Given the description of an element on the screen output the (x, y) to click on. 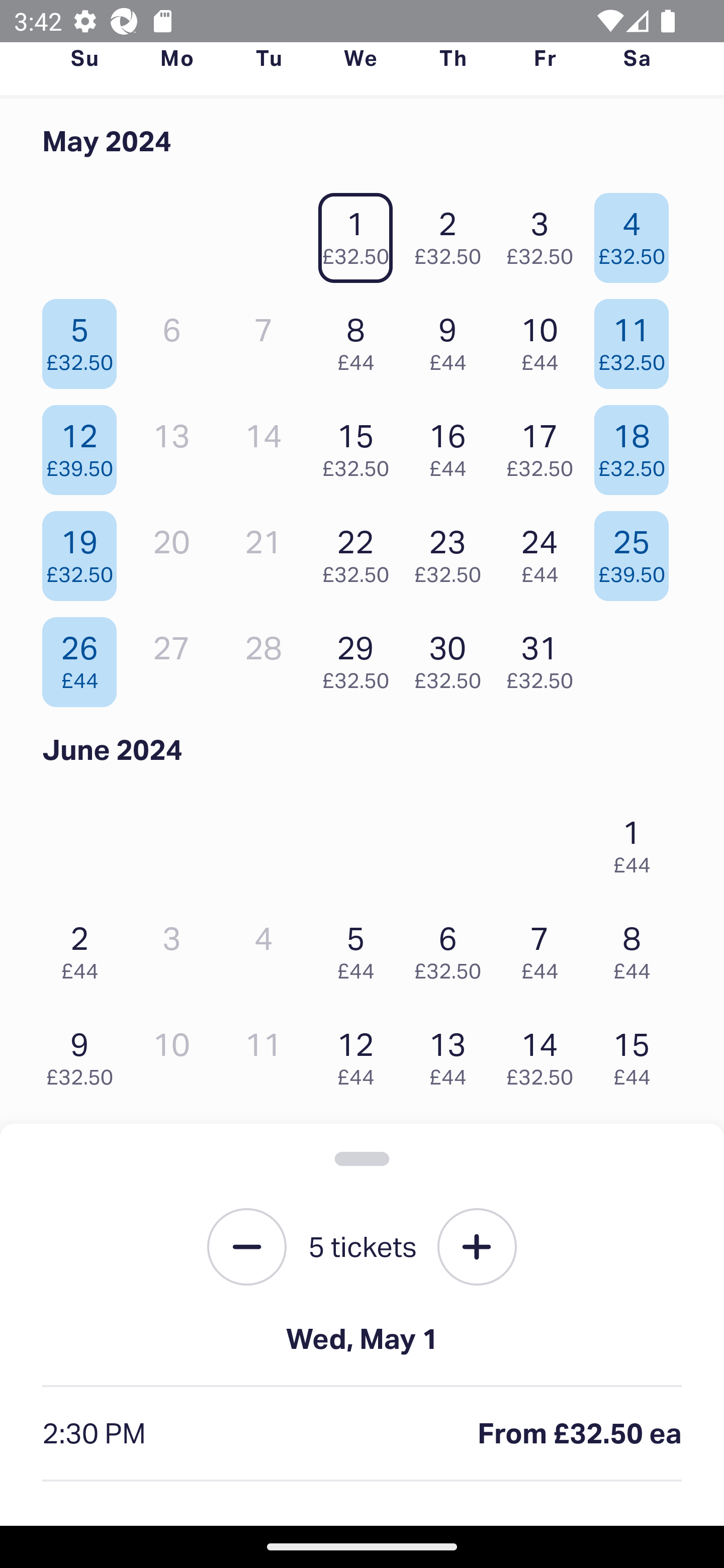
1 £32.50 (360, 232)
2 £32.50 (452, 232)
3 £32.50 (544, 232)
4 £32.50 (636, 232)
5 £32.50 (84, 339)
8 £44 (360, 339)
9 £44 (452, 339)
10 £44 (544, 339)
11 £32.50 (636, 339)
12 £39.50 (84, 445)
15 £32.50 (360, 445)
16 £44 (452, 445)
17 £32.50 (544, 445)
18 £32.50 (636, 445)
19 £32.50 (84, 550)
22 £32.50 (360, 550)
23 £32.50 (452, 550)
24 £44 (544, 550)
25 £39.50 (636, 550)
26 £44 (84, 657)
29 £32.50 (360, 657)
30 £32.50 (452, 657)
31 £32.50 (544, 657)
1 £44 (636, 841)
2 £44 (84, 947)
5 £44 (360, 947)
6 £32.50 (452, 947)
7 £44 (544, 947)
8 £44 (636, 947)
9 £32.50 (84, 1054)
12 £44 (360, 1054)
13 £44 (452, 1054)
14 £32.50 (544, 1054)
15 £44 (636, 1054)
2:30 PM From £32.50 ea (361, 1434)
